Given the description of an element on the screen output the (x, y) to click on. 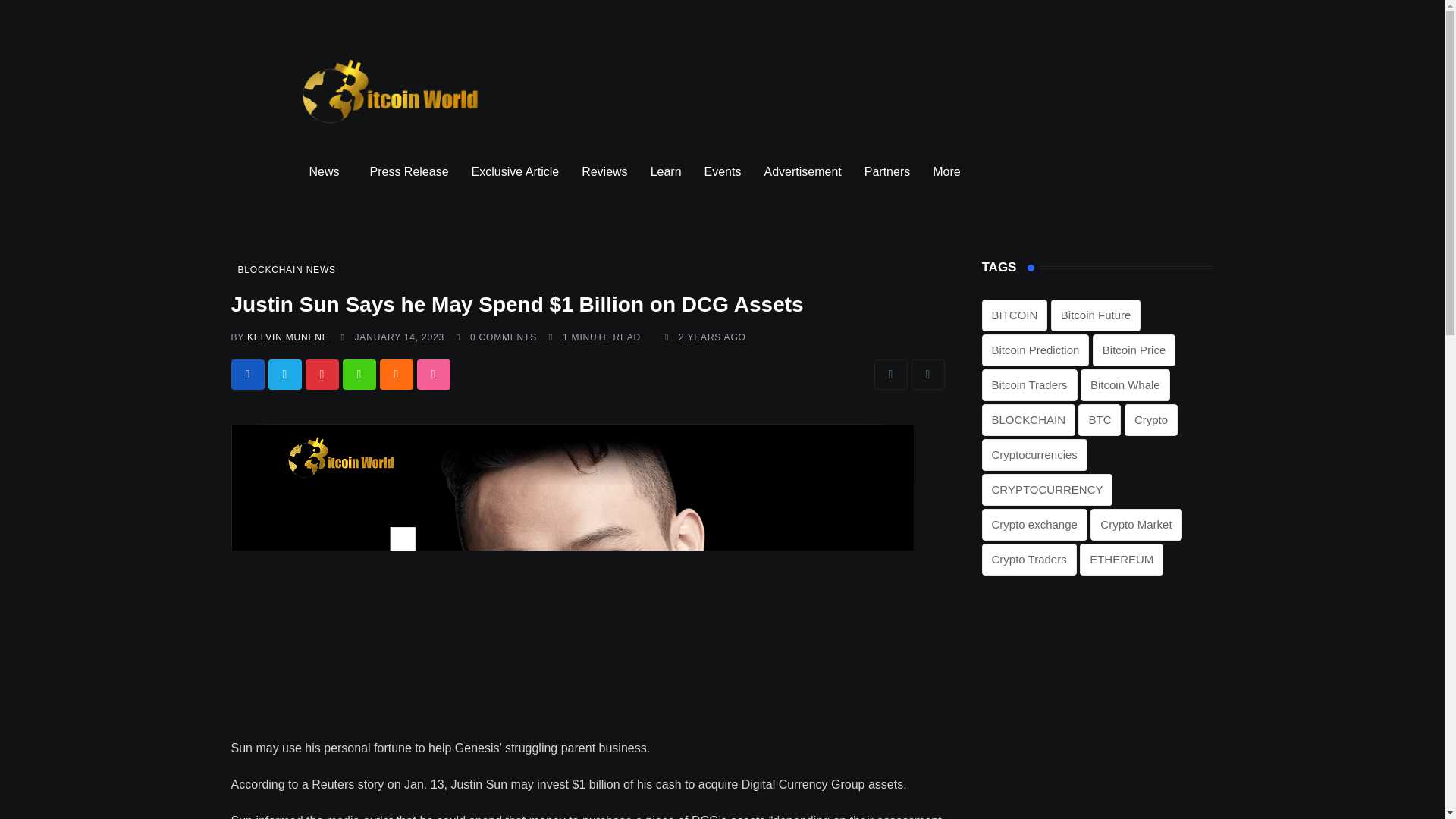
Reviews (604, 171)
News (327, 171)
More (949, 171)
Posts by Kelvin Munene (288, 337)
Exclusive Article (515, 171)
KELVIN MUNENE (288, 337)
Learn (666, 171)
BLOCKCHAIN NEWS (286, 268)
Partners (887, 171)
Advertisement (801, 171)
